Given the description of an element on the screen output the (x, y) to click on. 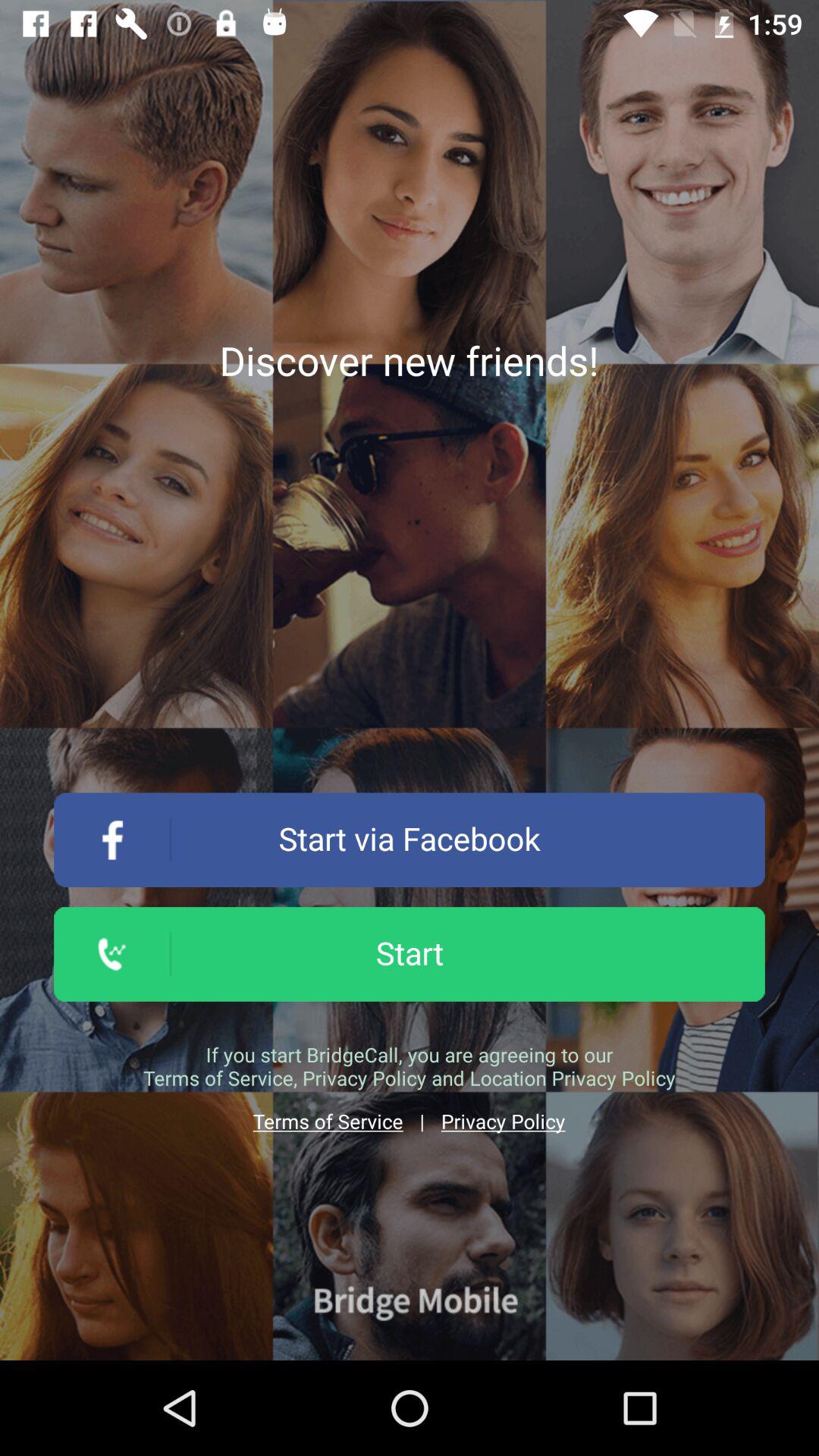
jump until discover new friends! icon (408, 359)
